Given the description of an element on the screen output the (x, y) to click on. 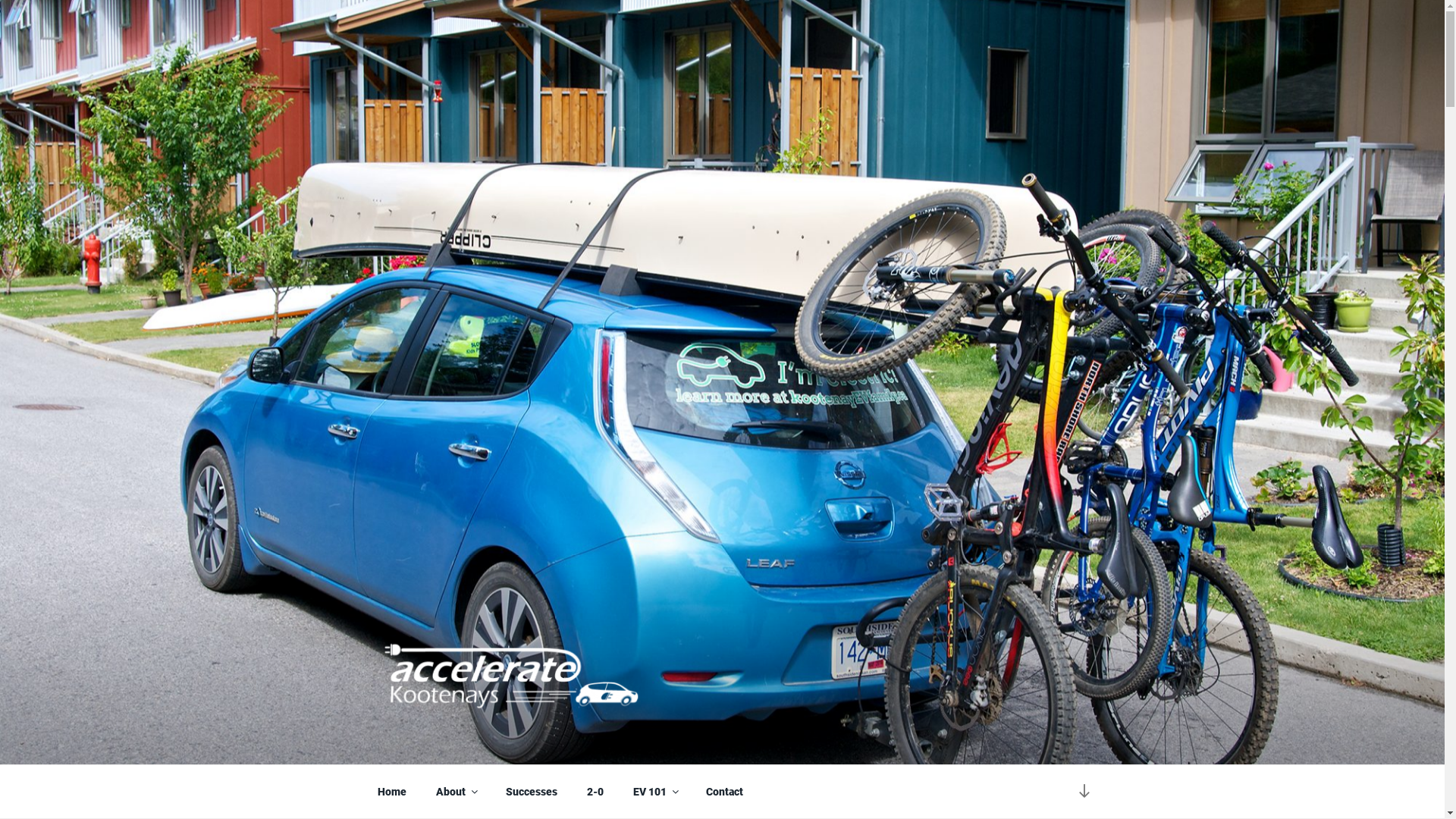
2-0 Element type: text (594, 791)
Contact Element type: text (724, 791)
ACCELERATE KOOTENAYS Element type: text (582, 744)
Home Element type: text (391, 791)
EV 101 Element type: text (654, 791)
Successes Element type: text (531, 791)
Scroll down to content Element type: text (1083, 790)
About Element type: text (455, 791)
